Given the description of an element on the screen output the (x, y) to click on. 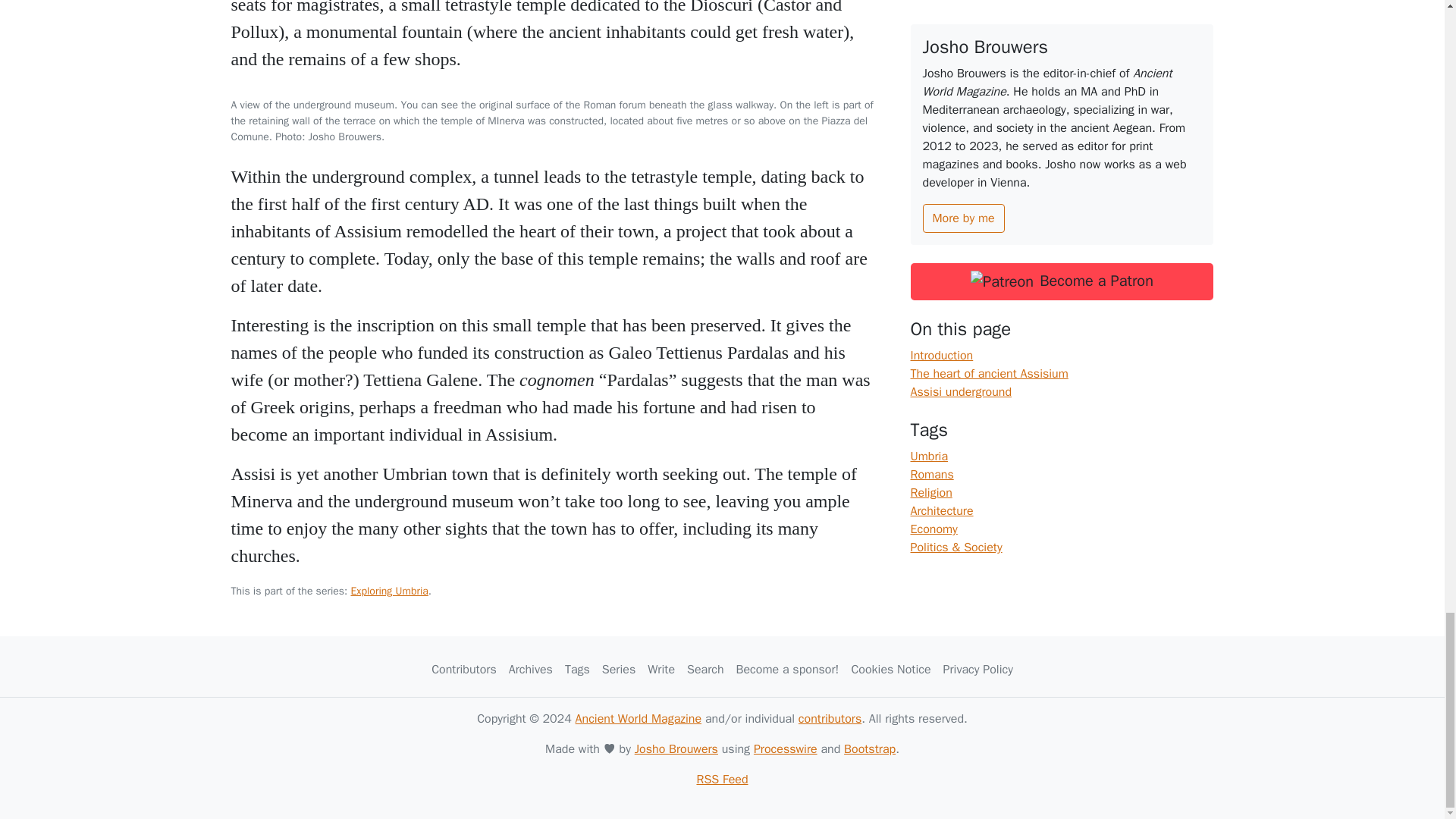
RSS Feed (721, 779)
Processwire (785, 749)
Archives (530, 669)
Josho Brouwers (675, 749)
Become a sponsor! (787, 669)
Contributors (463, 669)
Write (661, 669)
Tags (577, 669)
Ancient World Magazine (638, 718)
Bootstrap (869, 749)
